Given the description of an element on the screen output the (x, y) to click on. 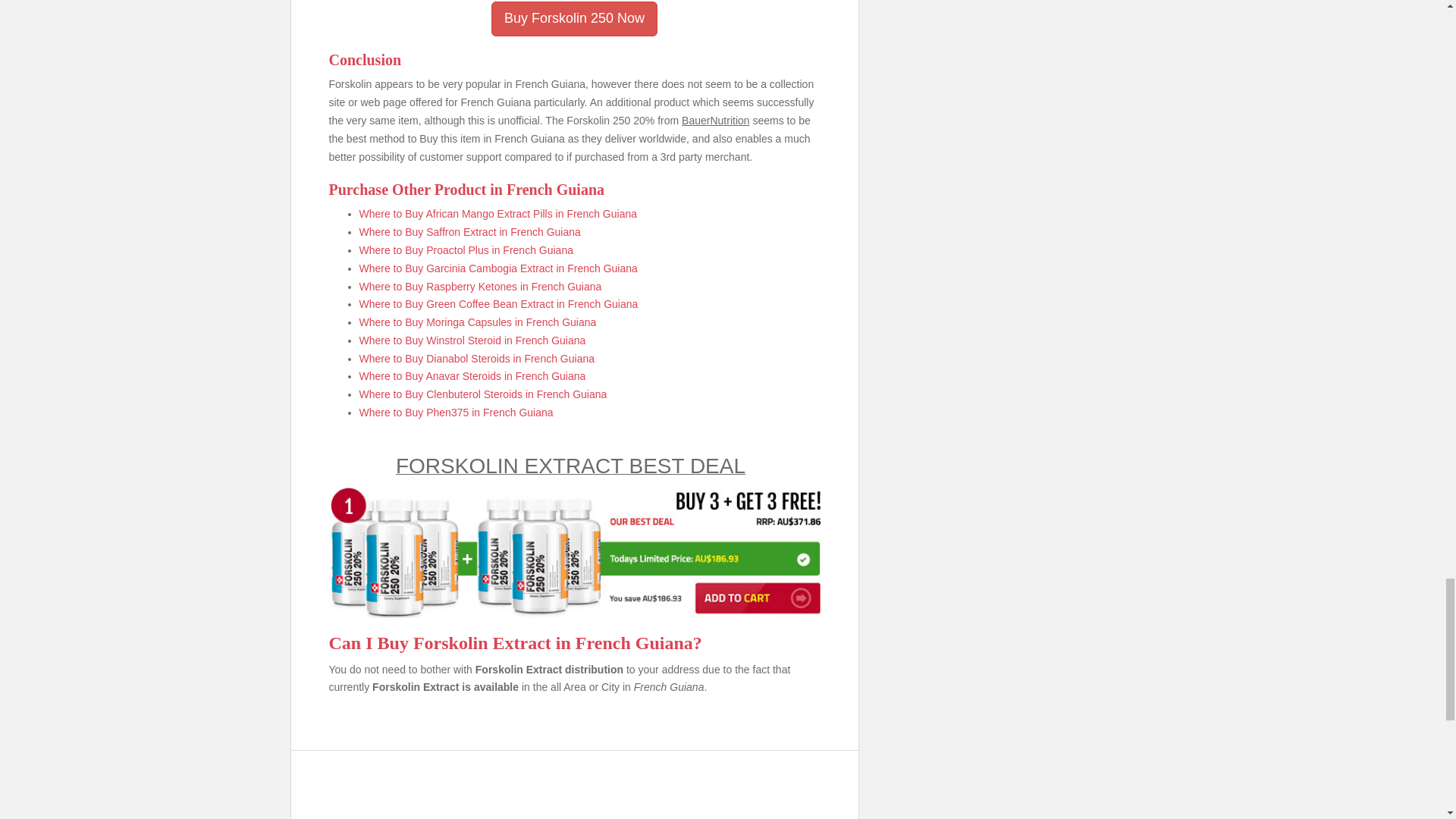
Where to Buy Dianabol Steroids in French Guiana (477, 358)
Where to Buy Garcinia Cambogia Extract in French Guiana (498, 268)
Where to Buy raspberry-ketones online French Guiana (480, 286)
Where to Buy Moringa Capsules in French Guiana (477, 322)
Where to Buy Proactol Plus in French Guiana (466, 250)
Where to Buy dianabol-steroids online French Guiana (477, 358)
Where to Buy saffron-extract online French Guiana (469, 232)
Where to Buy Green Coffee Bean Extract in French Guiana (499, 304)
Where to Buy African Mango Extract Pills in French Guiana (498, 214)
Where to Buy garcinia-cambogia-extract online French Guiana (498, 268)
Where to Buy Raspberry Ketones in French Guiana (480, 286)
Where to Buy Anavar Steroids in French Guiana (472, 376)
Where to Buy anavar-steroids online French Guiana (472, 376)
Where to Buy winstrol-steroids online French Guiana (472, 340)
